Given the description of an element on the screen output the (x, y) to click on. 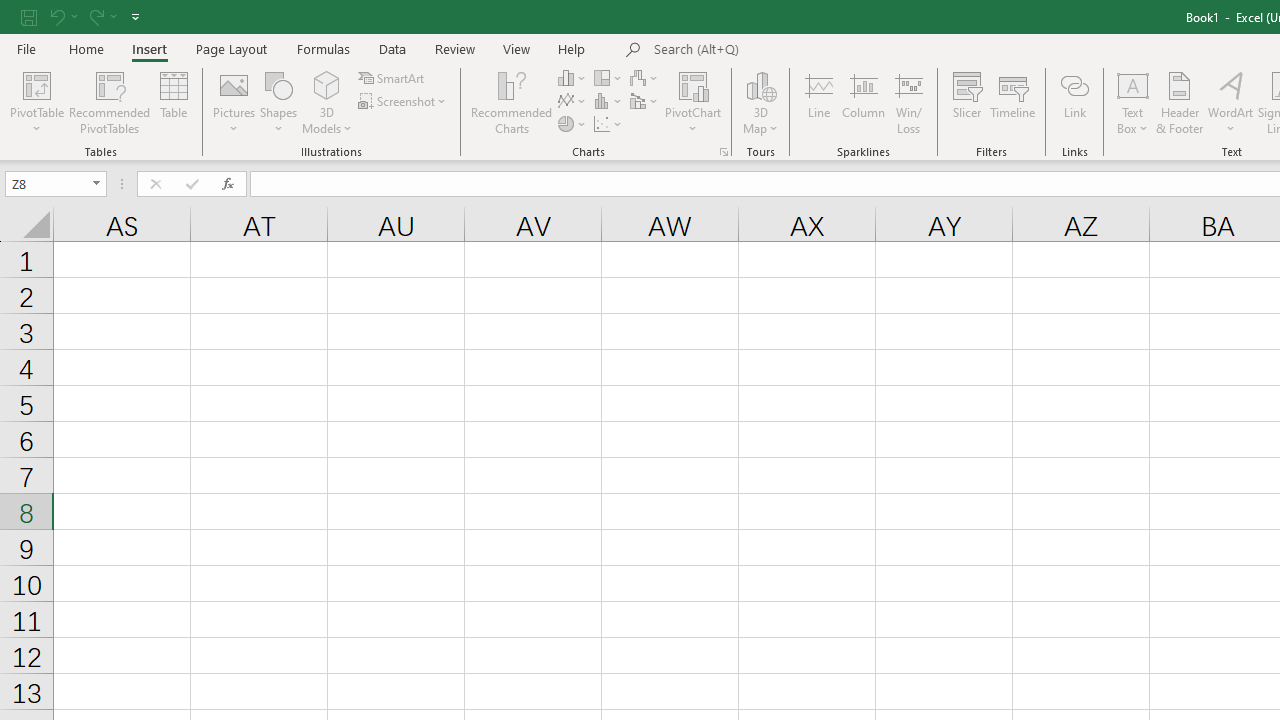
3D Map (760, 102)
WordArt (1230, 102)
Timeline (1013, 102)
Screenshot (403, 101)
Insert Column or Bar Chart (573, 78)
3D Map (760, 84)
PivotChart (693, 102)
Slicer... (966, 102)
Text Box (1133, 102)
